Given the description of an element on the screen output the (x, y) to click on. 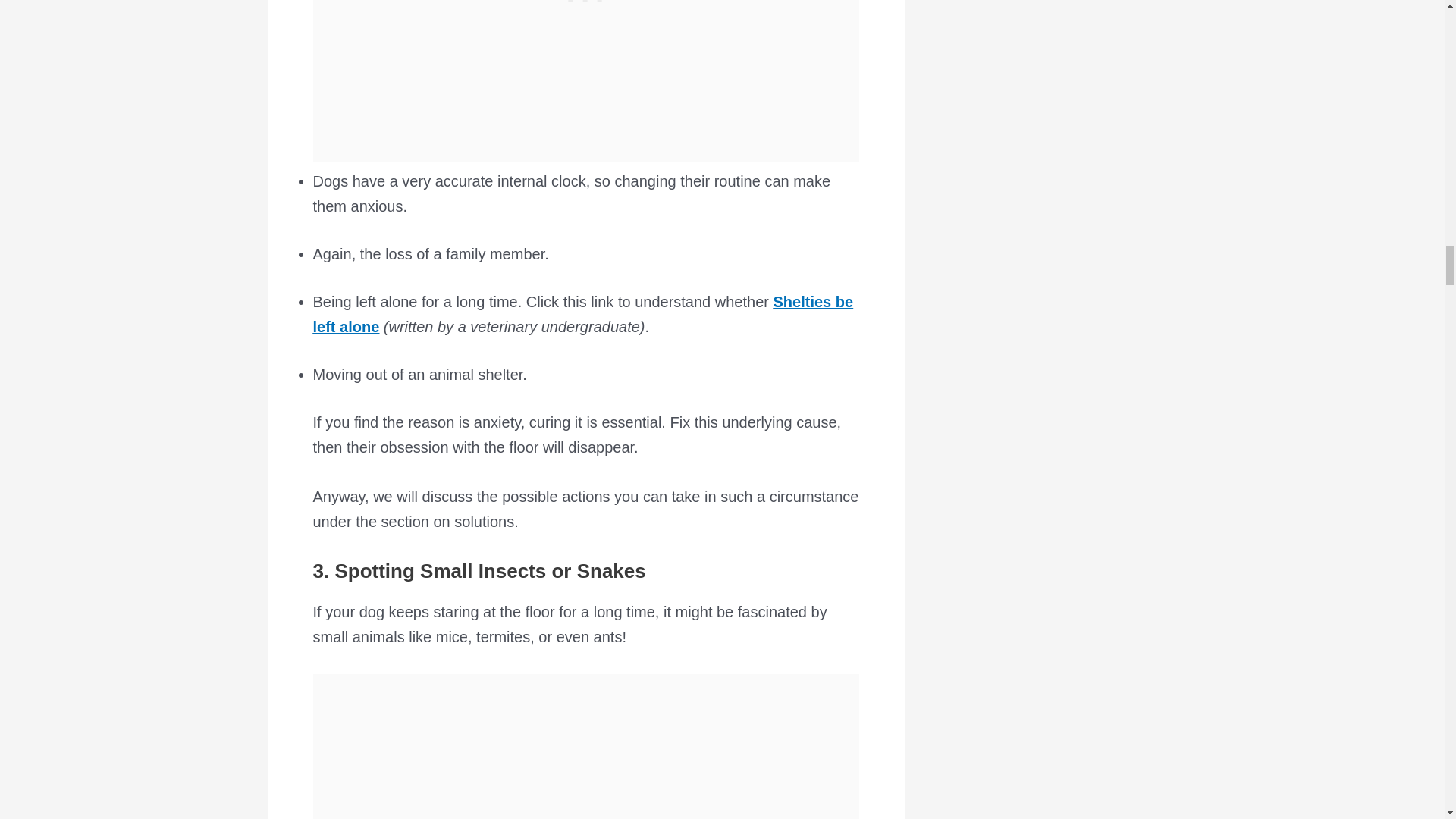
Shelties be left alone (583, 313)
